Given the description of an element on the screen output the (x, y) to click on. 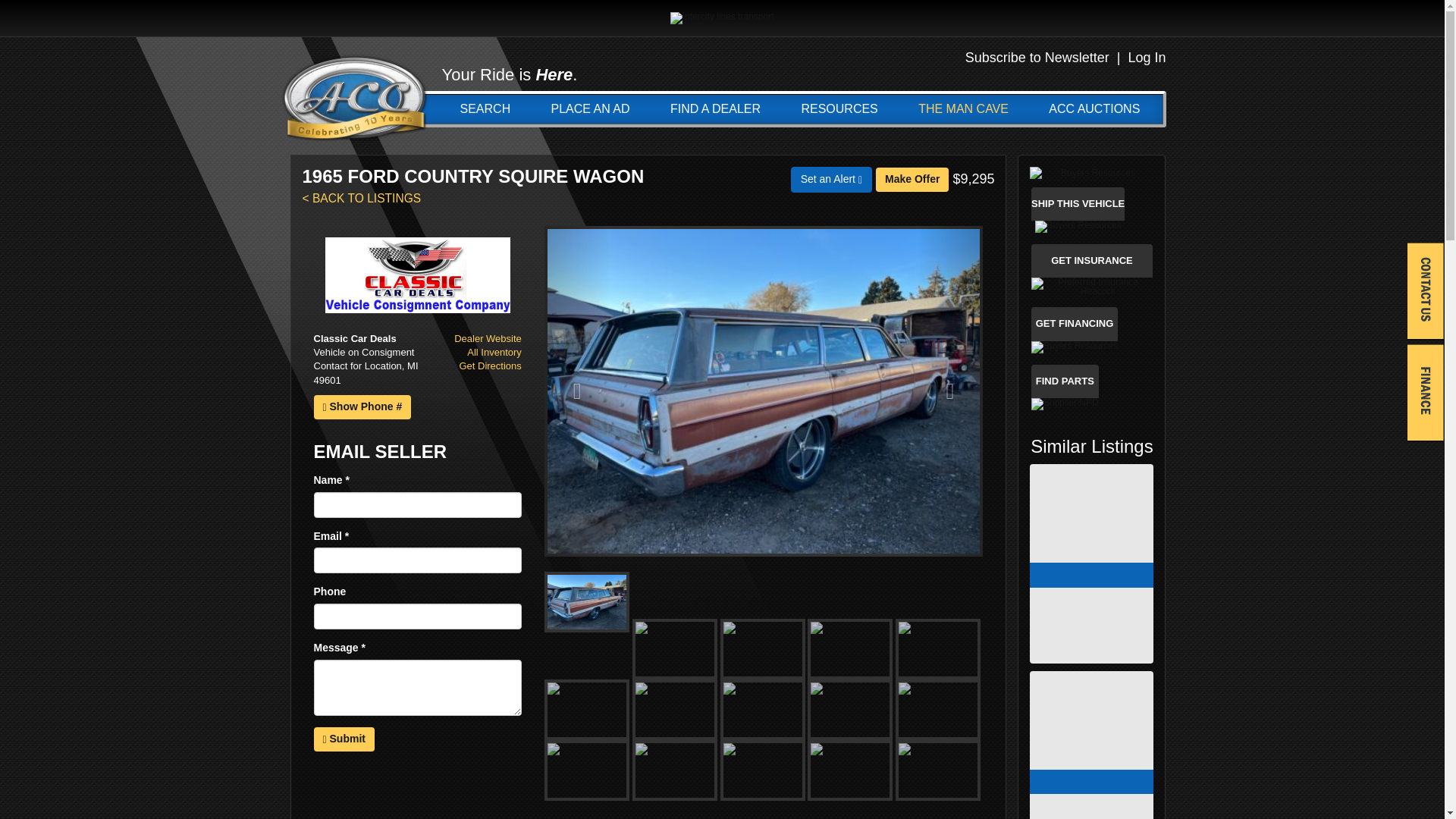
Submit (344, 739)
FIND A DEALER (714, 109)
THE MAN CAVE (963, 109)
Get Directions (489, 365)
Dealer Website (487, 337)
Subscribe to Newsletter (1037, 57)
Set an Alert (831, 179)
RESOURCES (838, 109)
ACC AUCTIONS (1093, 109)
Log In (1146, 57)
